Given the description of an element on the screen output the (x, y) to click on. 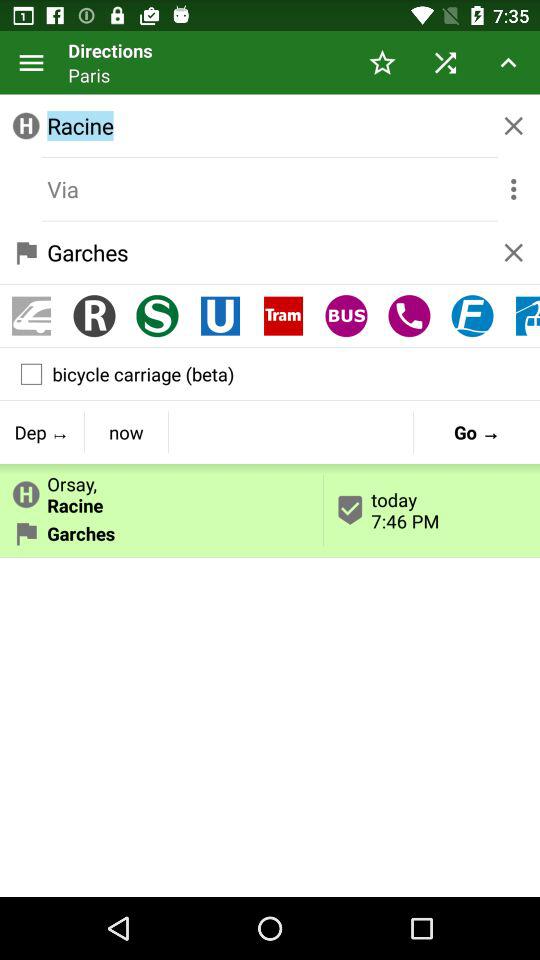
click the icon above garches (161, 490)
